Given the description of an element on the screen output the (x, y) to click on. 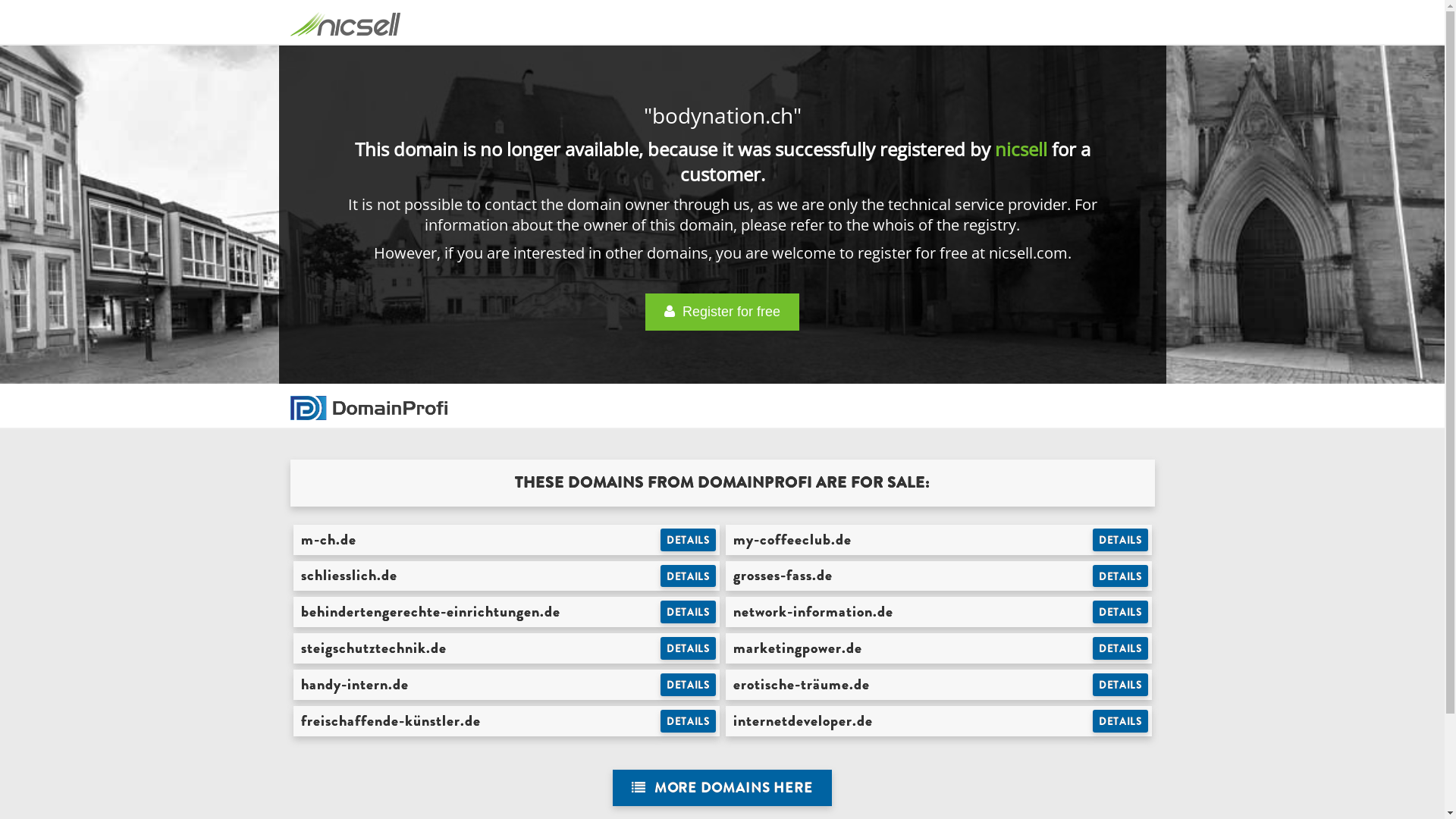
DETAILS Element type: text (1120, 575)
DETAILS Element type: text (687, 720)
DETAILS Element type: text (1120, 539)
DETAILS Element type: text (1120, 684)
DETAILS Element type: text (1120, 648)
DETAILS Element type: text (687, 684)
DETAILS Element type: text (687, 611)
nicsell Element type: text (1020, 148)
  MORE DOMAINS HERE Element type: text (721, 787)
DETAILS Element type: text (687, 648)
DETAILS Element type: text (1120, 611)
DETAILS Element type: text (687, 539)
  Register for free Element type: text (722, 311)
DETAILS Element type: text (1120, 720)
DETAILS Element type: text (687, 575)
